Given the description of an element on the screen output the (x, y) to click on. 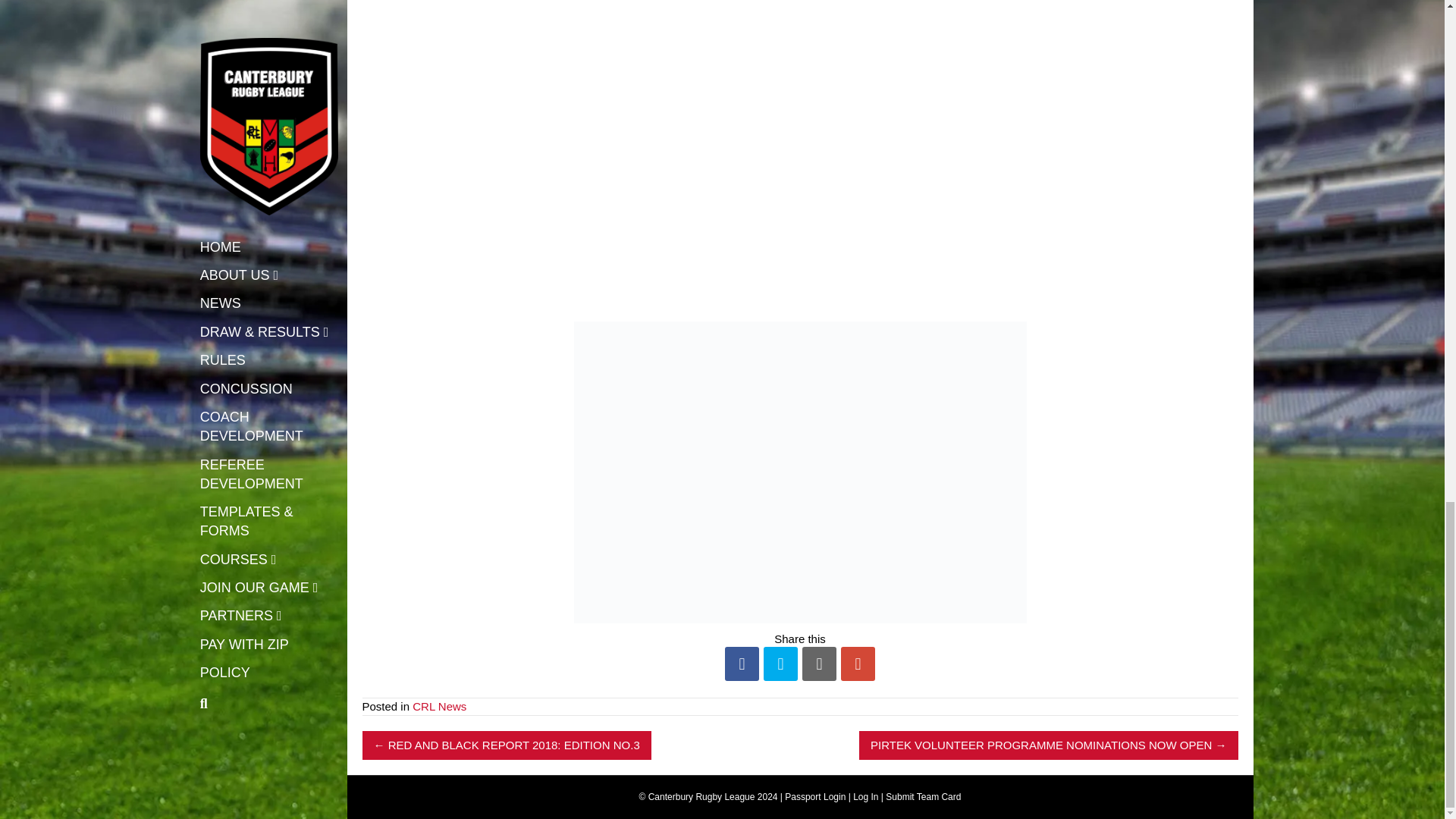
Send via Email (818, 663)
Share on Facebook (741, 663)
Share on Twitter (779, 663)
